Given the description of an element on the screen output the (x, y) to click on. 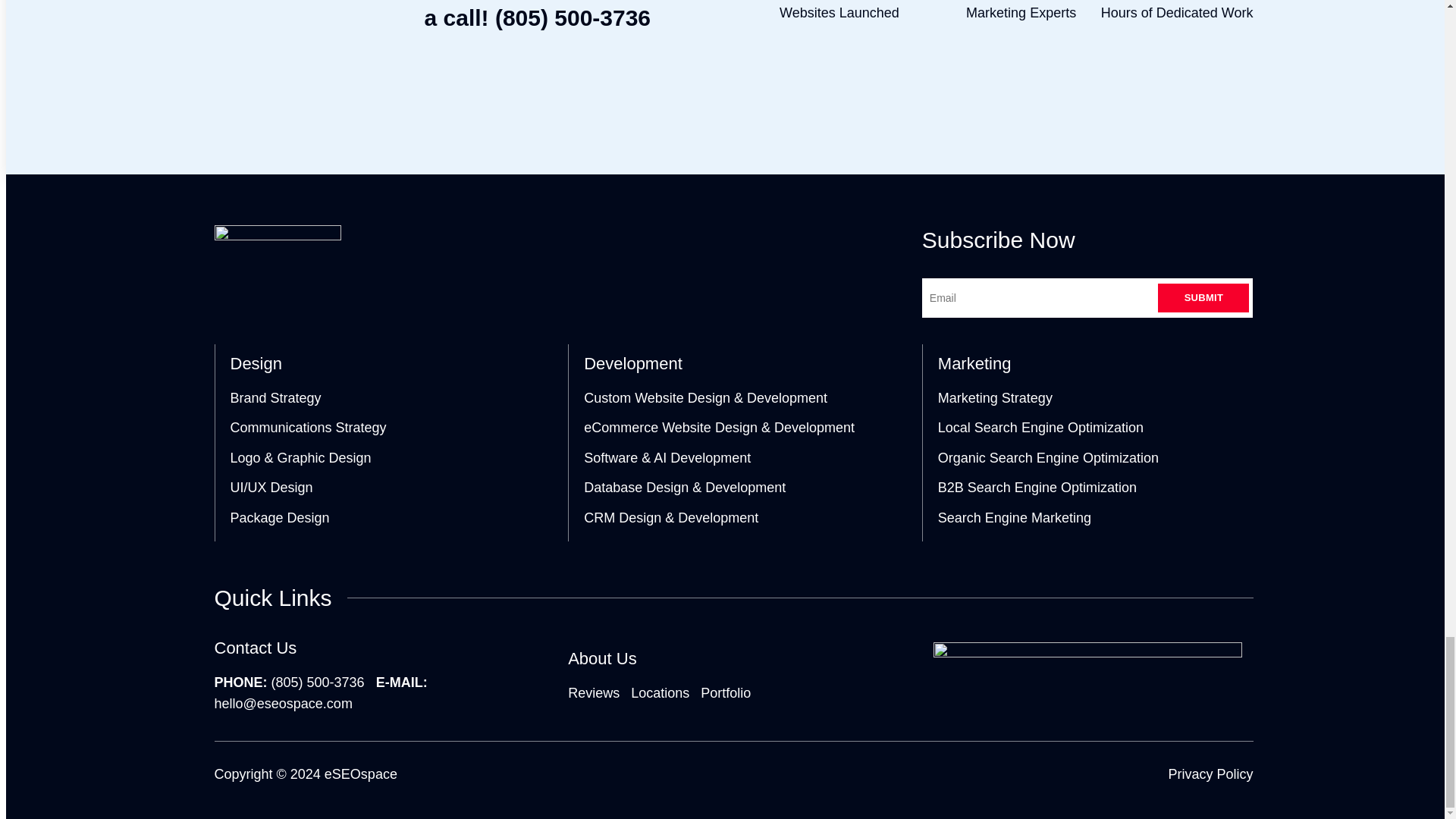
Submit (1203, 297)
